Given the description of an element on the screen output the (x, y) to click on. 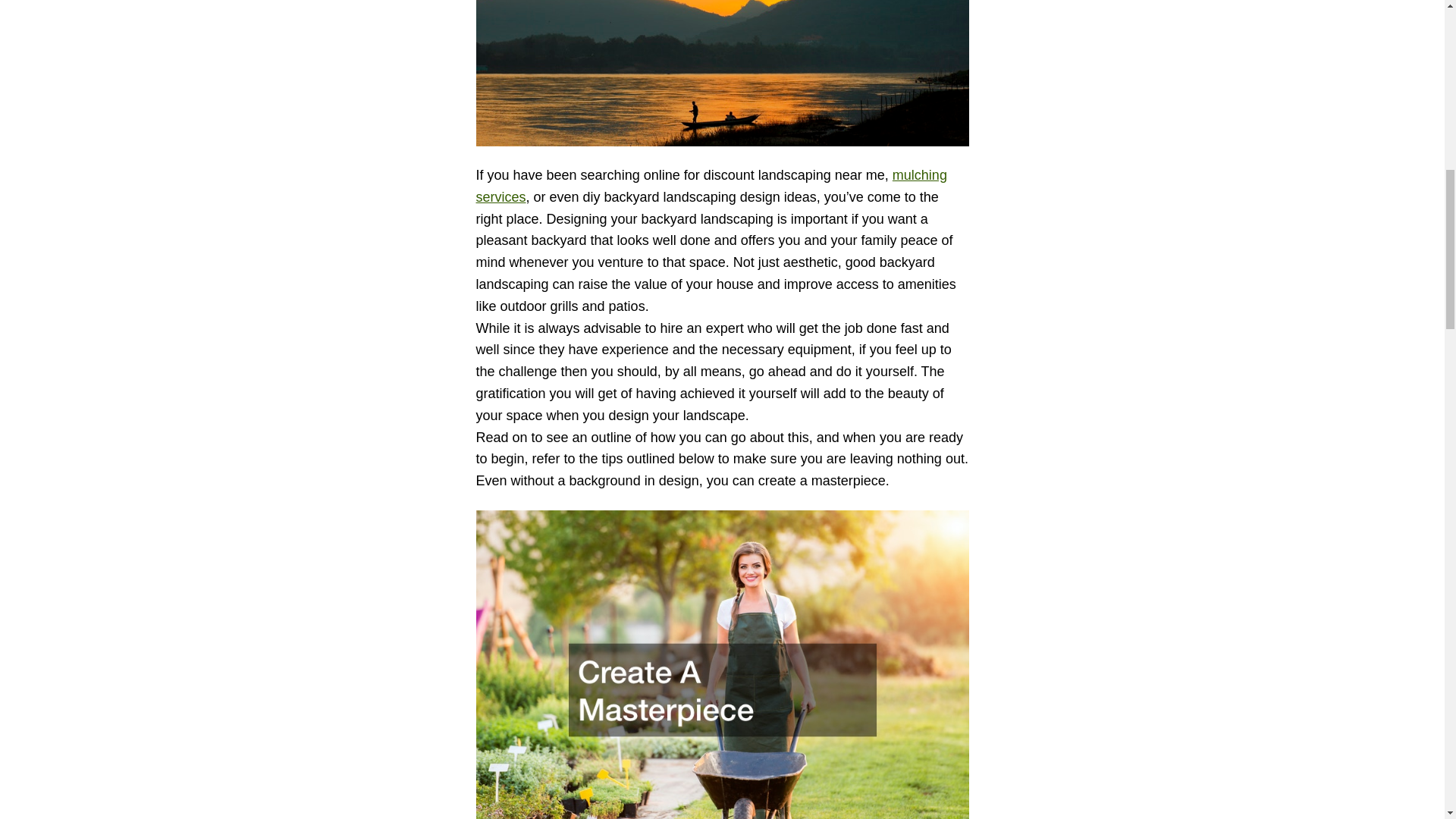
mulching services (711, 185)
